Given the description of an element on the screen output the (x, y) to click on. 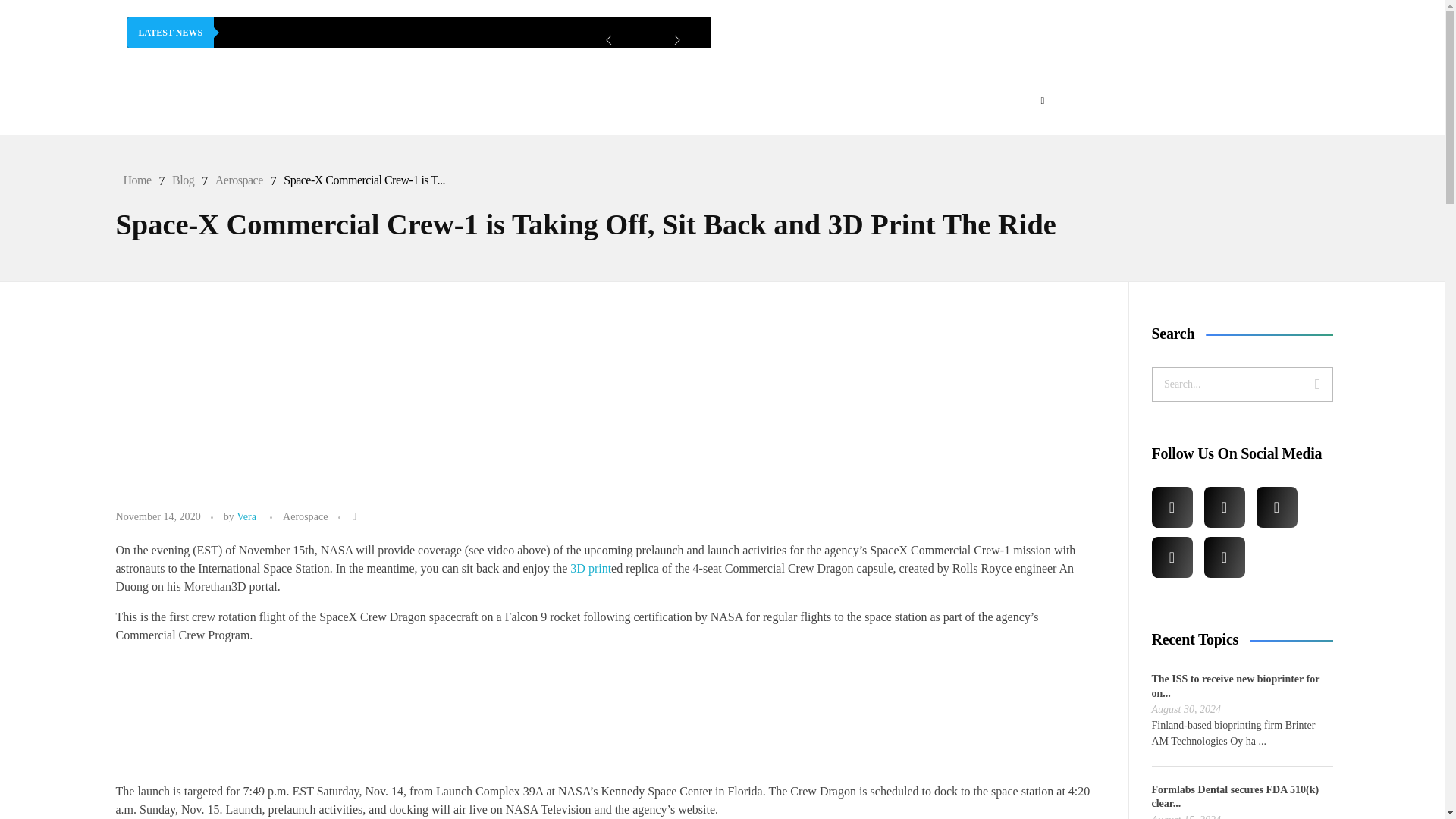
Home (136, 179)
FacFox News (183, 127)
FacFox News (183, 127)
View all posts in Aerospace (304, 516)
Aerospace (239, 179)
View all posts by Vera (245, 516)
Blog (182, 179)
FacFox News (203, 96)
